Given the description of an element on the screen output the (x, y) to click on. 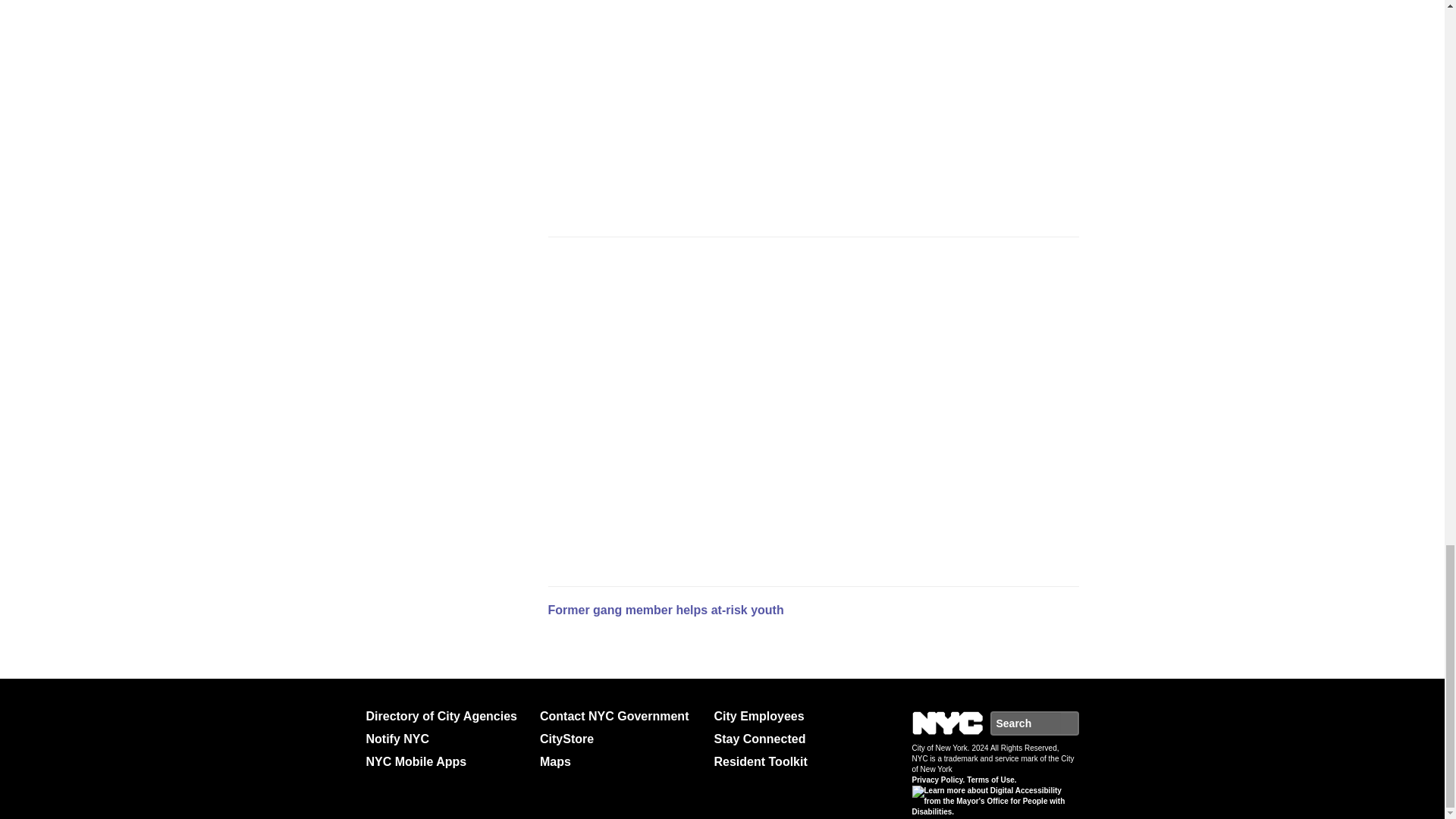
Contact NYC Government (620, 716)
Notify NYC (446, 739)
Directory of City Agencies (446, 716)
CityStore (620, 739)
Former gang member helps at-risk youth (665, 609)
Privacy Ploicy  (925, 795)
City Employees (795, 716)
